Given the description of an element on the screen output the (x, y) to click on. 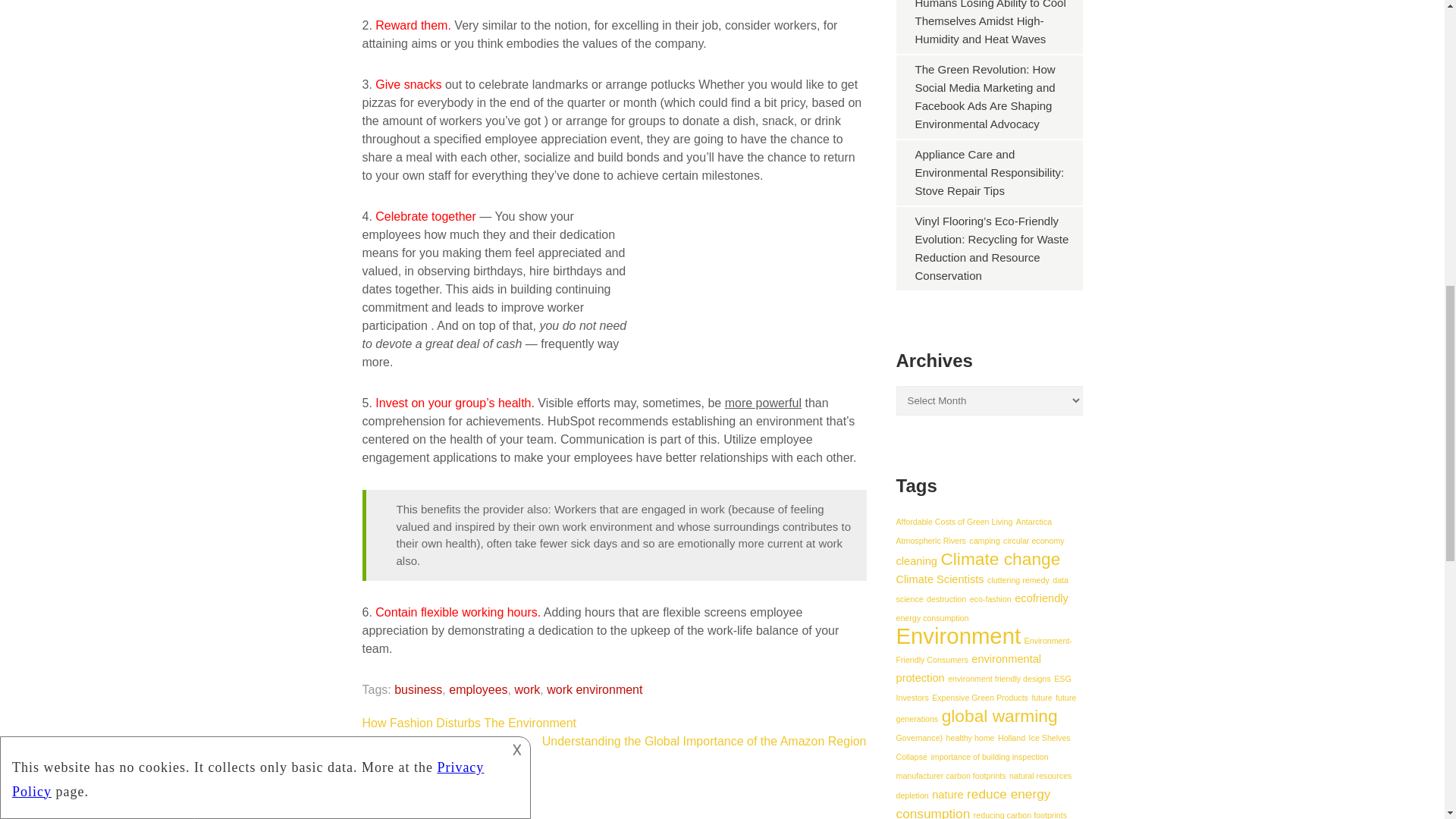
business (418, 689)
Antarctica (1033, 521)
How Fashion Disturbs The Environment (469, 722)
cleaning (916, 561)
work environment (594, 689)
work (526, 689)
Affordable Costs of Green Living (954, 521)
camping (983, 540)
